Given the description of an element on the screen output the (x, y) to click on. 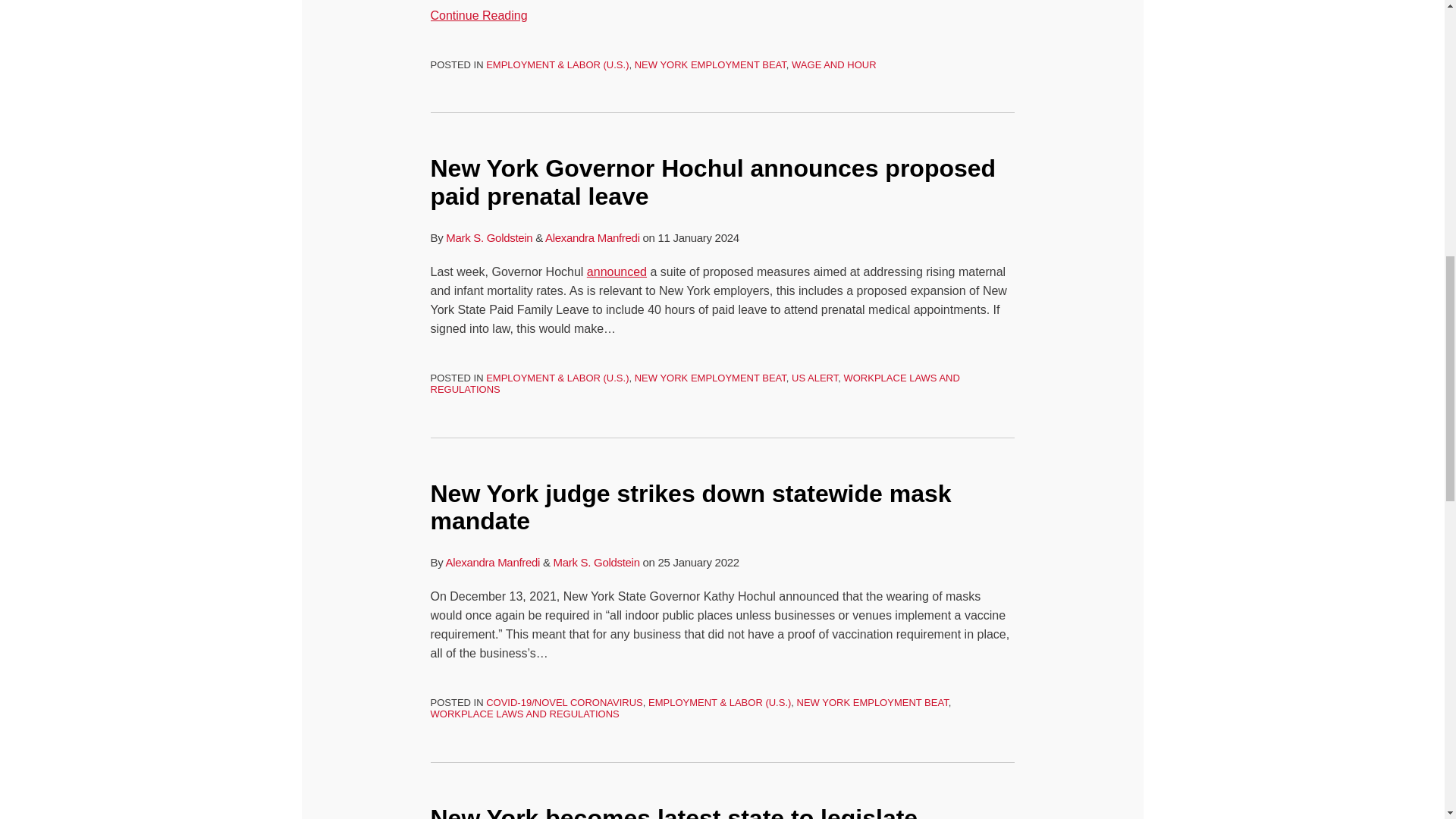
NEW YORK EMPLOYMENT BEAT (710, 377)
Mark S. Goldstein (596, 562)
NEW YORK EMPLOYMENT BEAT (710, 64)
WORKPLACE LAWS AND REGULATIONS (694, 382)
WORKPLACE LAWS AND REGULATIONS (525, 713)
New York judge strikes down statewide mask mandate (691, 507)
Alexandra Manfredi (492, 562)
WAGE AND HOUR (834, 64)
NEW YORK EMPLOYMENT BEAT (872, 702)
US ALERT (815, 377)
announced (616, 271)
Mark S. Goldstein (488, 237)
